Given the description of an element on the screen output the (x, y) to click on. 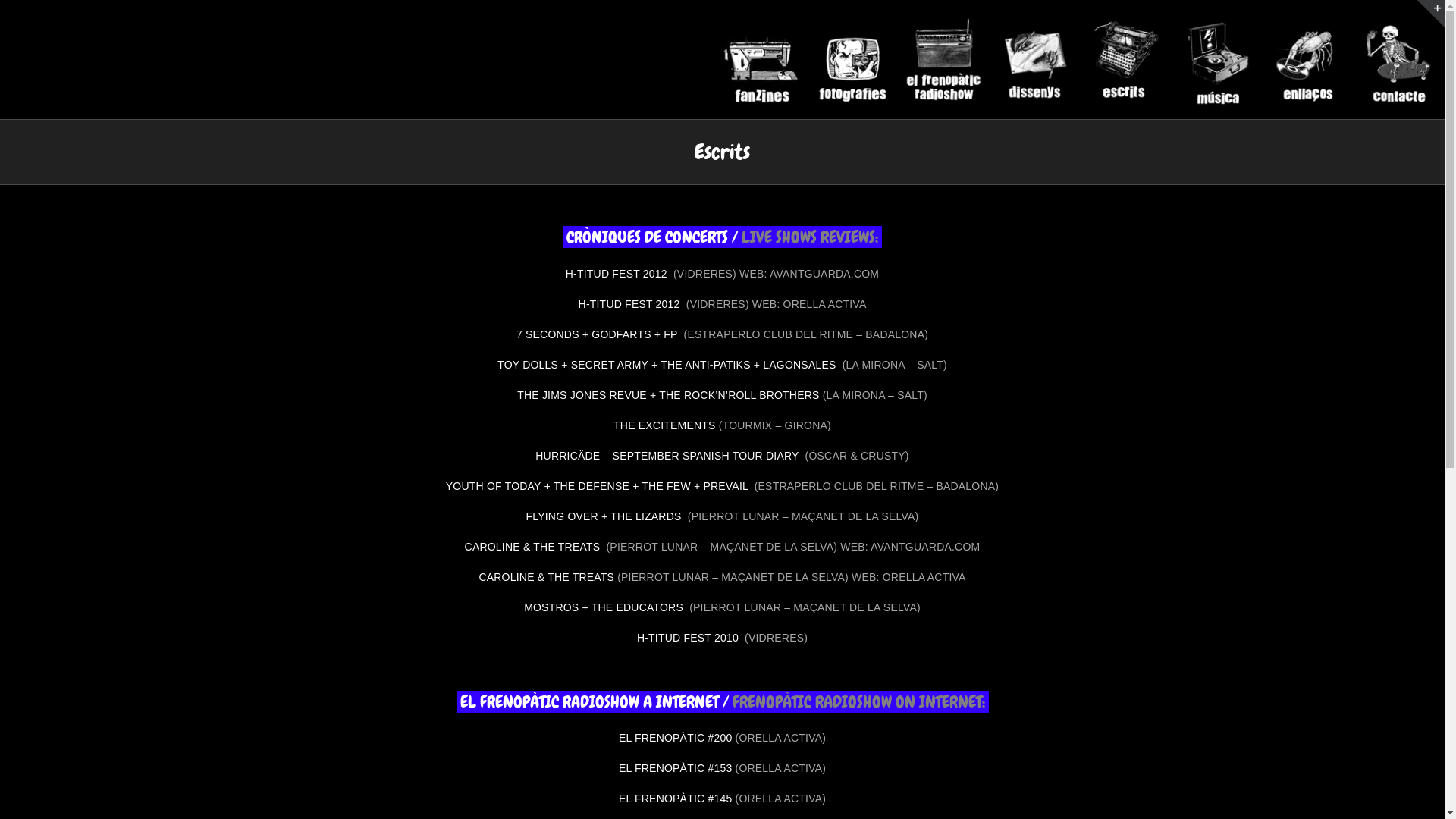
CAROLINE & THE TREATS  Element type: text (533, 546)
H-TITUD FEST 2012 Element type: text (630, 304)
H-TITUD FEST 2010  Element type: text (689, 637)
TOY DOLLS + SECRET ARMY + THE ANTI-PATIKS + LAGONSALES  Element type: text (668, 364)
MOSTROS + THE EDUCATORS  Element type: text (605, 607)
7 SECONDS + GODFARTS + FP  Element type: text (598, 334)
THE EXCITEMENTS Element type: text (664, 425)
Toggle Sliding Bar Area Element type: text (1430, 13)
H-TITUD FEST 2012 Element type: text (617, 273)
CAROLINE & THE TREATS Element type: text (546, 577)
YOUTH OF TODAY + THE DEFENSE + THE FEW + PREVAIL  Element type: text (598, 486)
FLYING OVER + THE LIZARDS  Element type: text (605, 516)
